Given the description of an element on the screen output the (x, y) to click on. 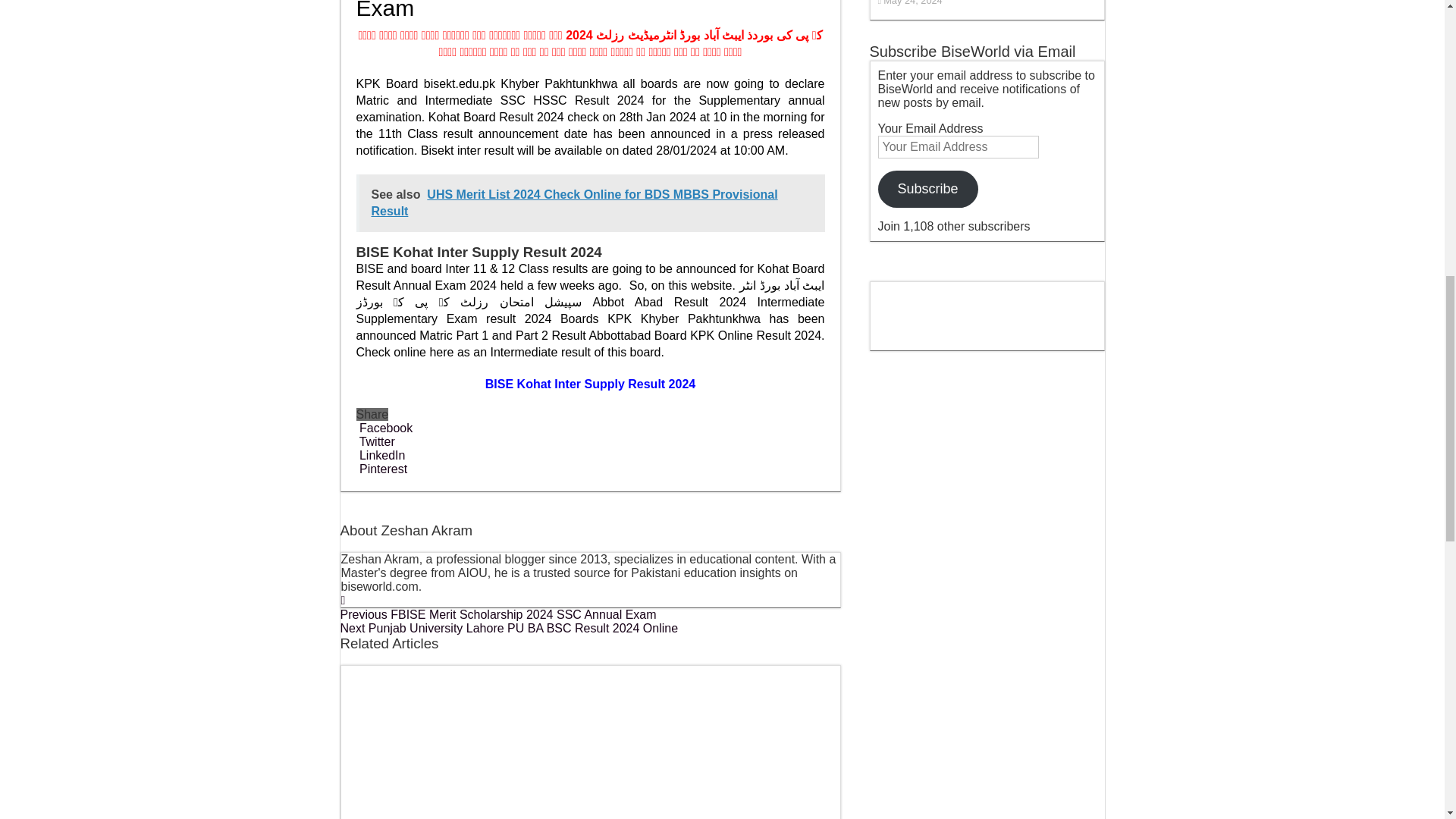
BISE Kohat Inter Supply Result 2022 (589, 383)
Facebook (384, 427)
Twitter (375, 440)
Pinterest (381, 468)
Previous FBISE Merit Scholarship 2024 SSC Annual Exam (497, 614)
LinkedIn (381, 454)
BISE Kohat Inter Supply Result 2024 (589, 383)
Next Punjab University Lahore PU BA BSC Result 2024 Online (508, 627)
